Given the description of an element on the screen output the (x, y) to click on. 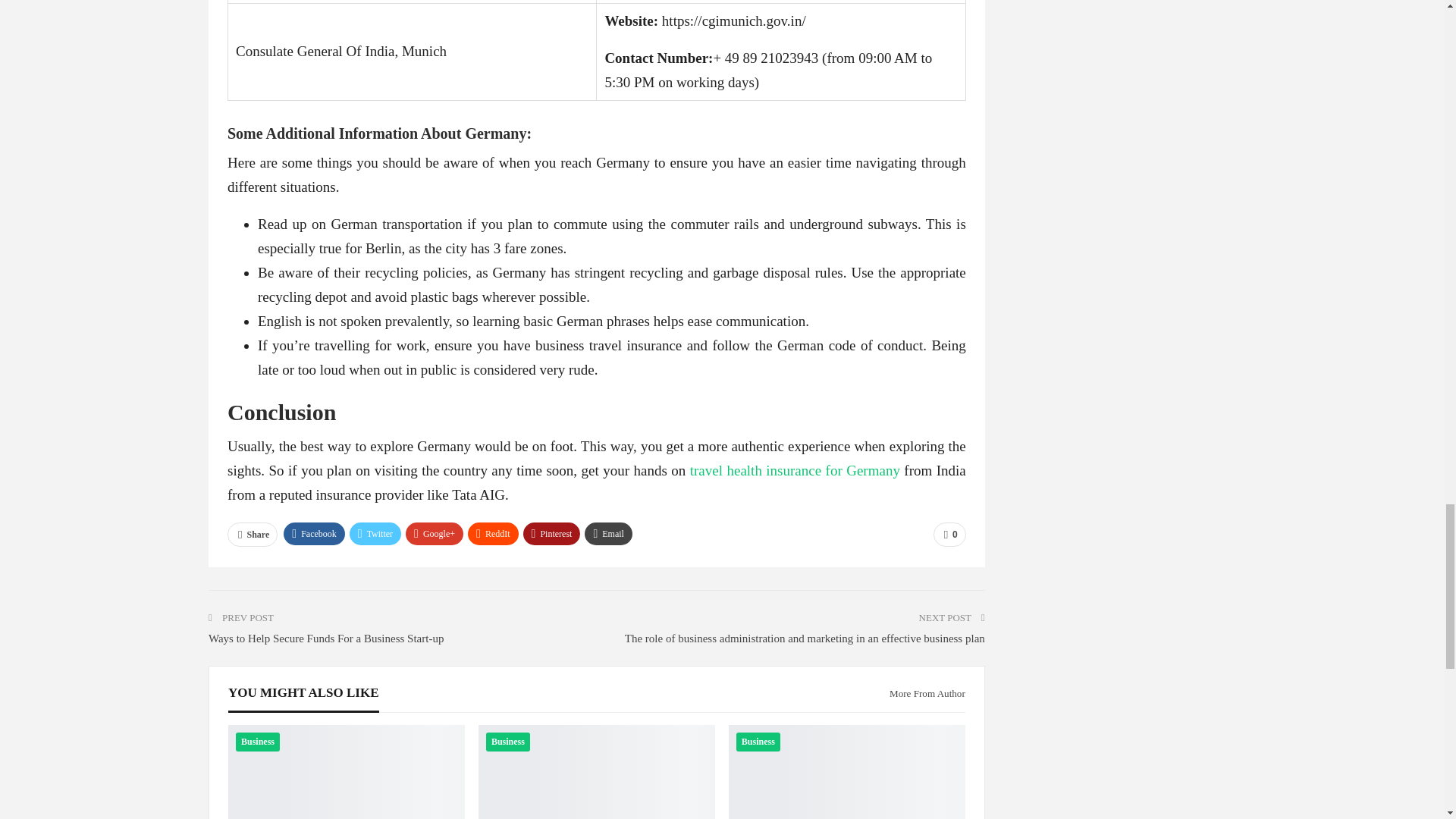
Pinterest (551, 533)
Facebook (314, 533)
Twitter (375, 533)
travel health insurance for Germany (794, 470)
0 (949, 534)
The Benefits of Hiring an SEO Agency for Your Small Business (346, 771)
ReddIt (492, 533)
